Given the description of an element on the screen output the (x, y) to click on. 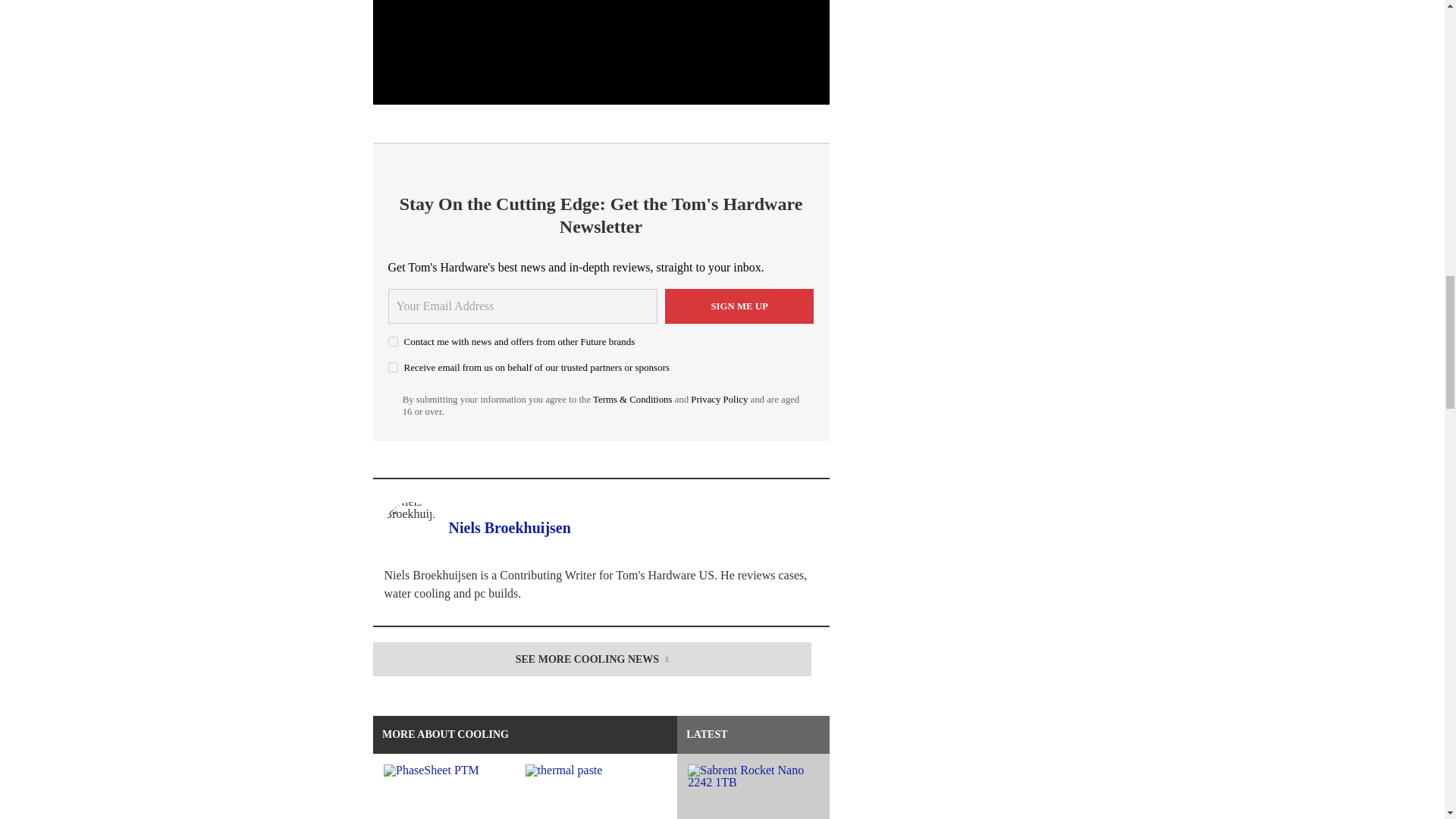
on (392, 341)
on (392, 367)
Sign me up (739, 306)
